Given the description of an element on the screen output the (x, y) to click on. 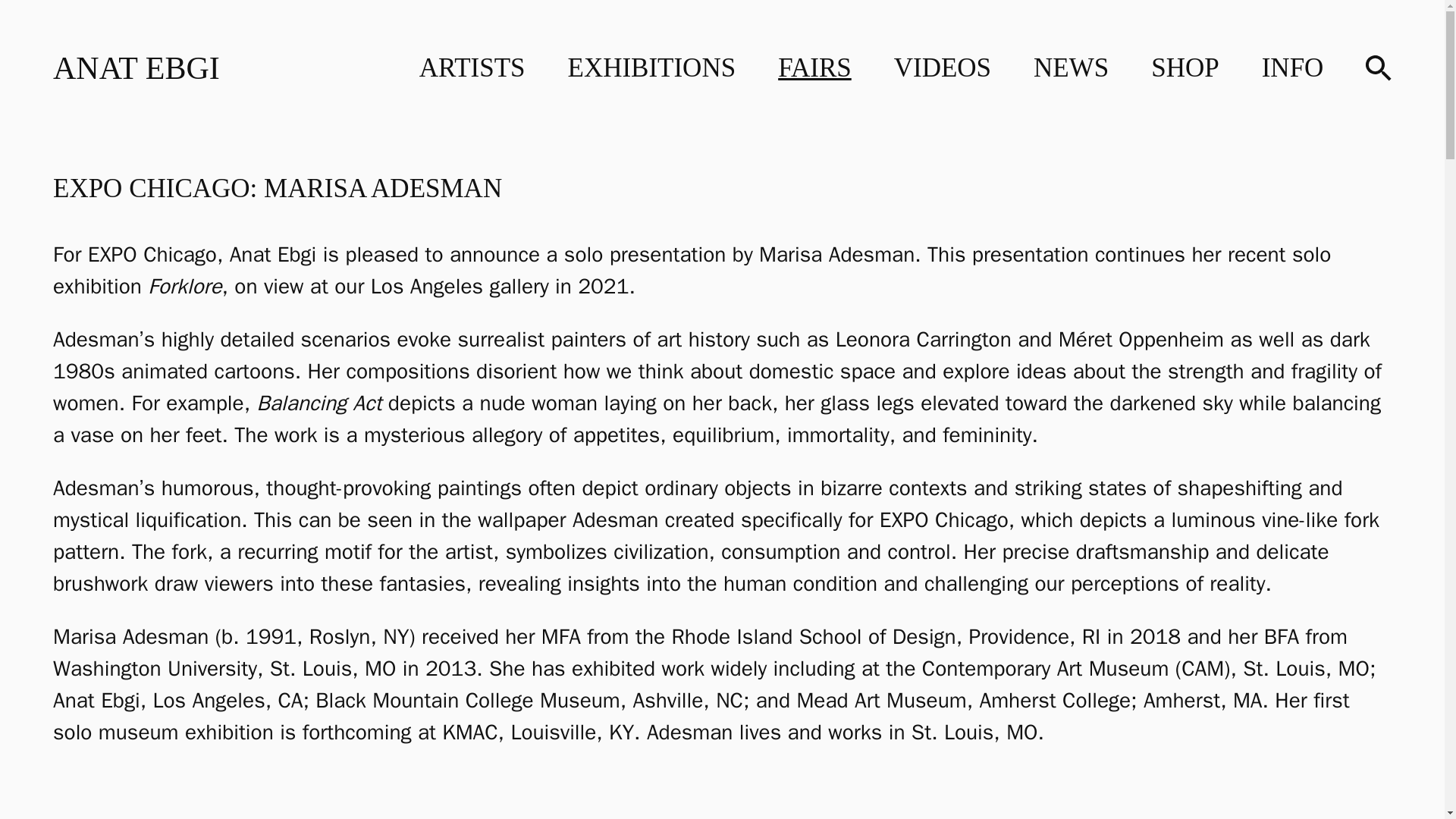
SHOP (1184, 67)
INFO (1292, 67)
NEWS (135, 67)
VIDEOS (1070, 67)
EXHIBITIONS (942, 67)
ARTISTS (651, 67)
FAIRS (472, 67)
